Given the description of an element on the screen output the (x, y) to click on. 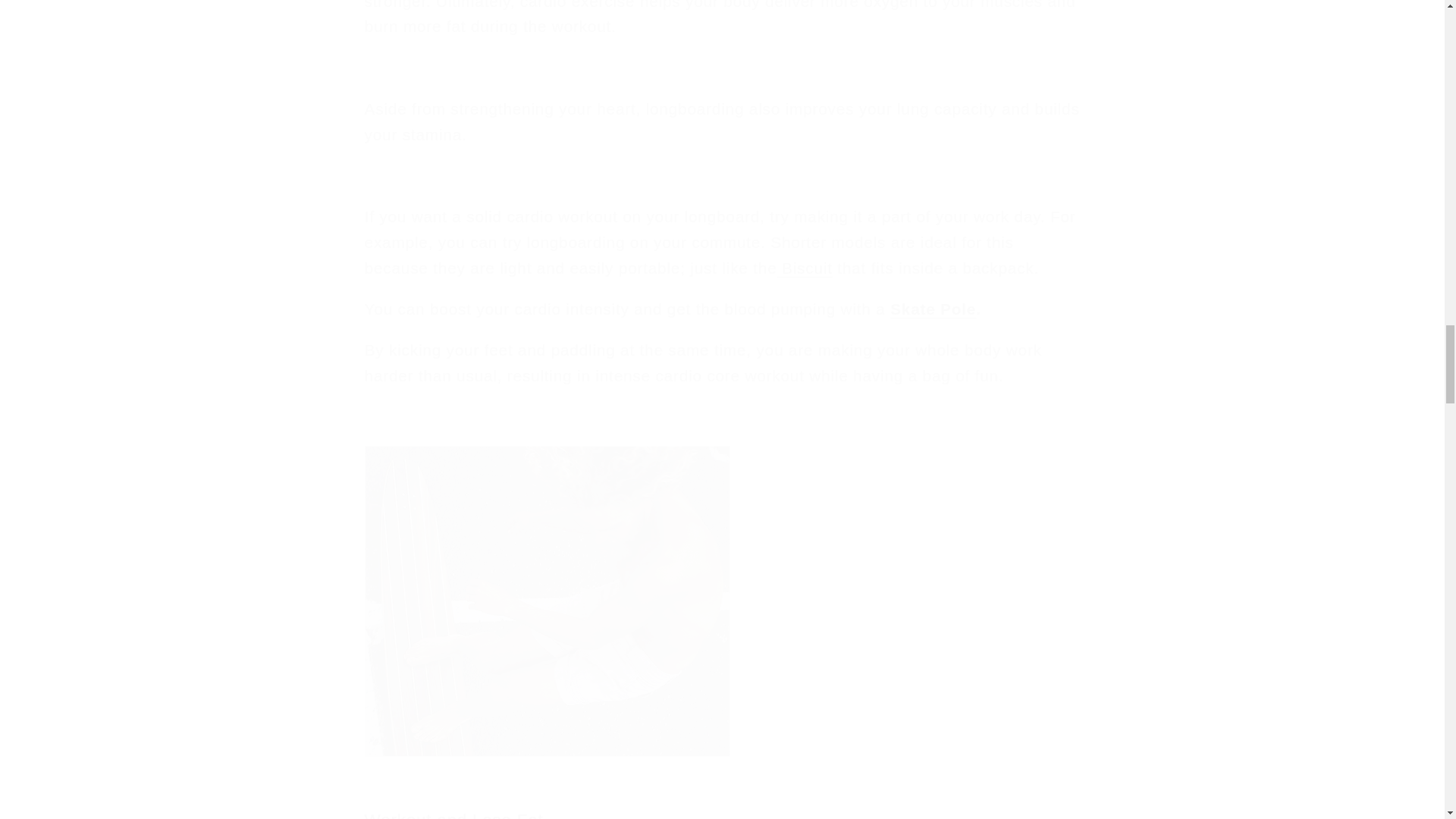
Biscuit (803, 267)
Skate Pole (932, 308)
